Given the description of an element on the screen output the (x, y) to click on. 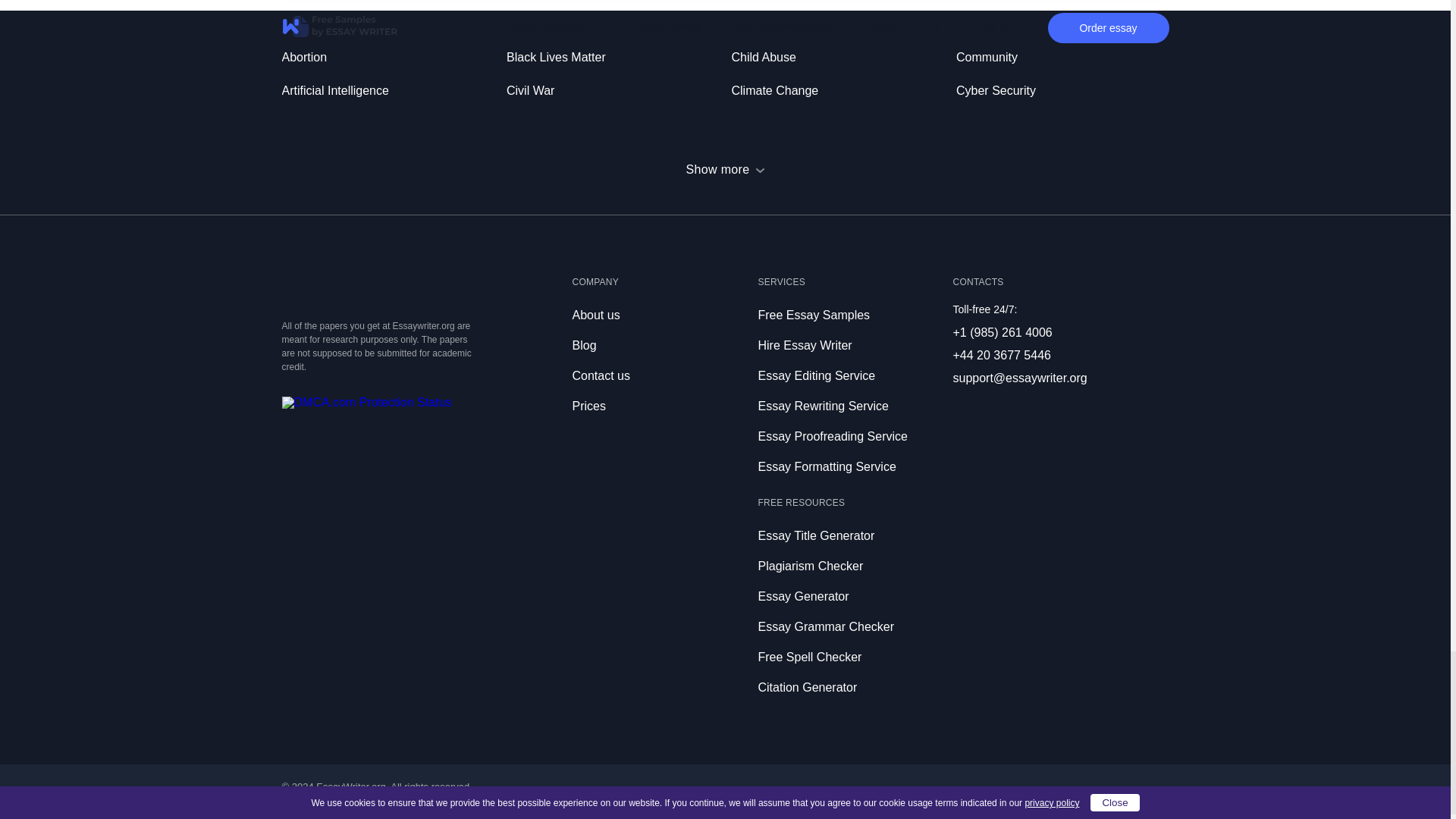
DMCA.com Protection Status (366, 401)
